Given the description of an element on the screen output the (x, y) to click on. 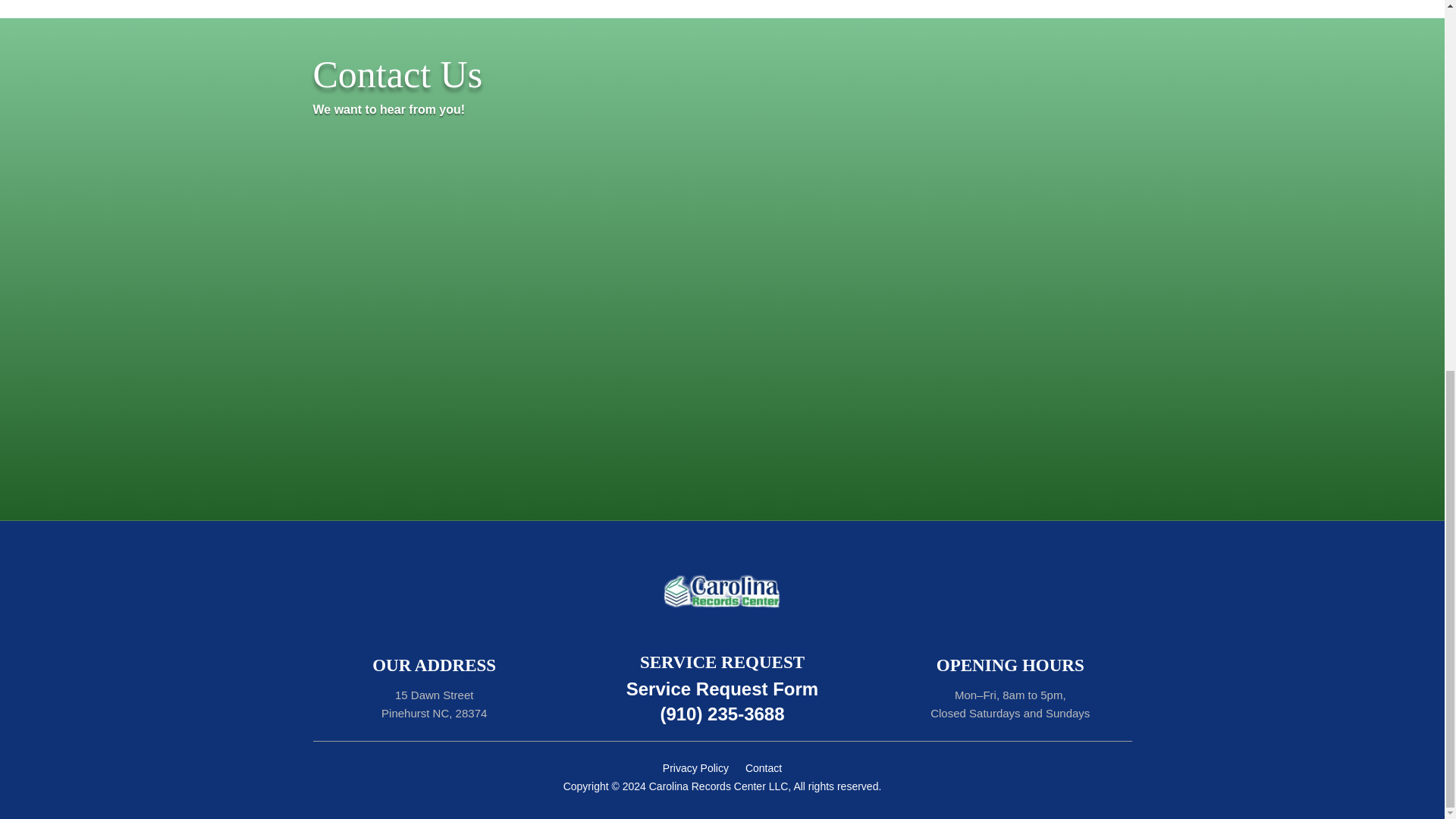
Contact (763, 770)
CRC Logo no recycle icon png (721, 588)
Privacy Policy (695, 770)
Service Request Form (722, 688)
